Given the description of an element on the screen output the (x, y) to click on. 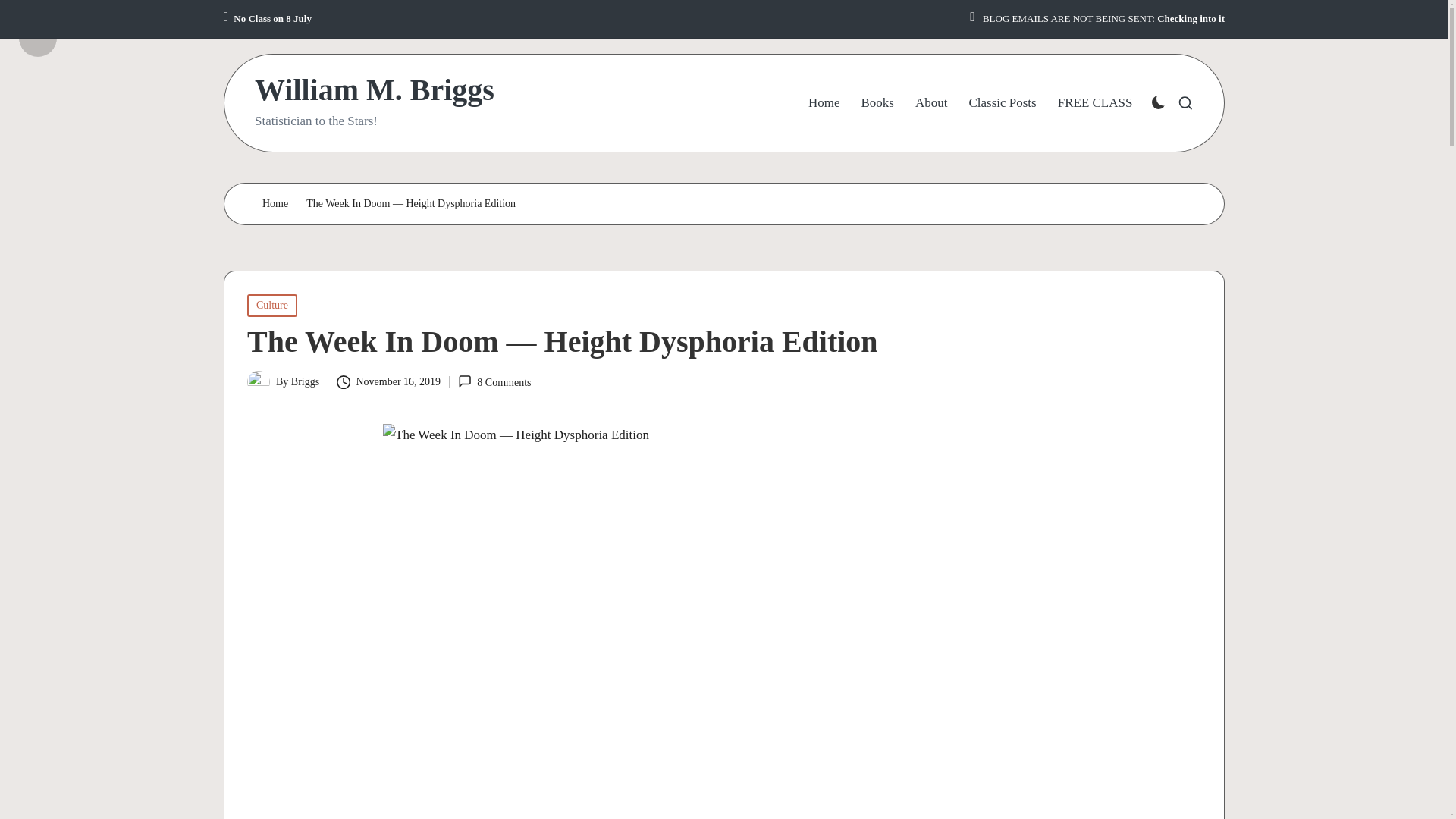
Classic Posts (1001, 103)
Culture (272, 305)
About (931, 103)
View all posts by Briggs (304, 381)
William M. Briggs (374, 90)
Home (824, 103)
Books (876, 103)
Briggs (304, 381)
FREE CLASS (1095, 103)
8 Comments (494, 381)
Checking into it (1190, 18)
Home (275, 203)
